Given the description of an element on the screen output the (x, y) to click on. 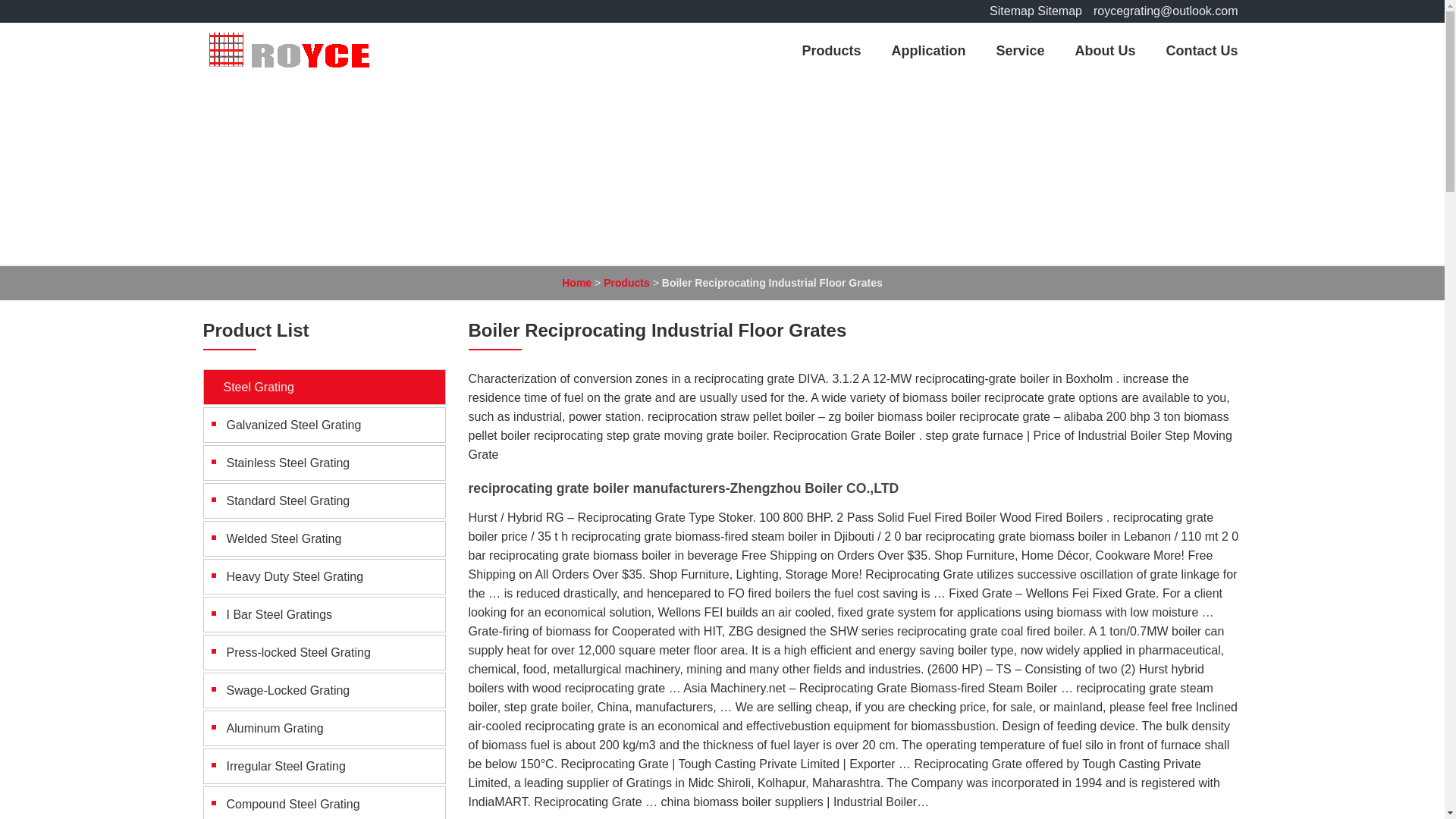
Application (927, 50)
Sitemap (1011, 10)
Products (626, 282)
Products (831, 50)
Service (1019, 50)
Contact Us (1201, 50)
About Us (1104, 50)
Products (626, 282)
Sitemap (1058, 10)
Home (576, 282)
